Given the description of an element on the screen output the (x, y) to click on. 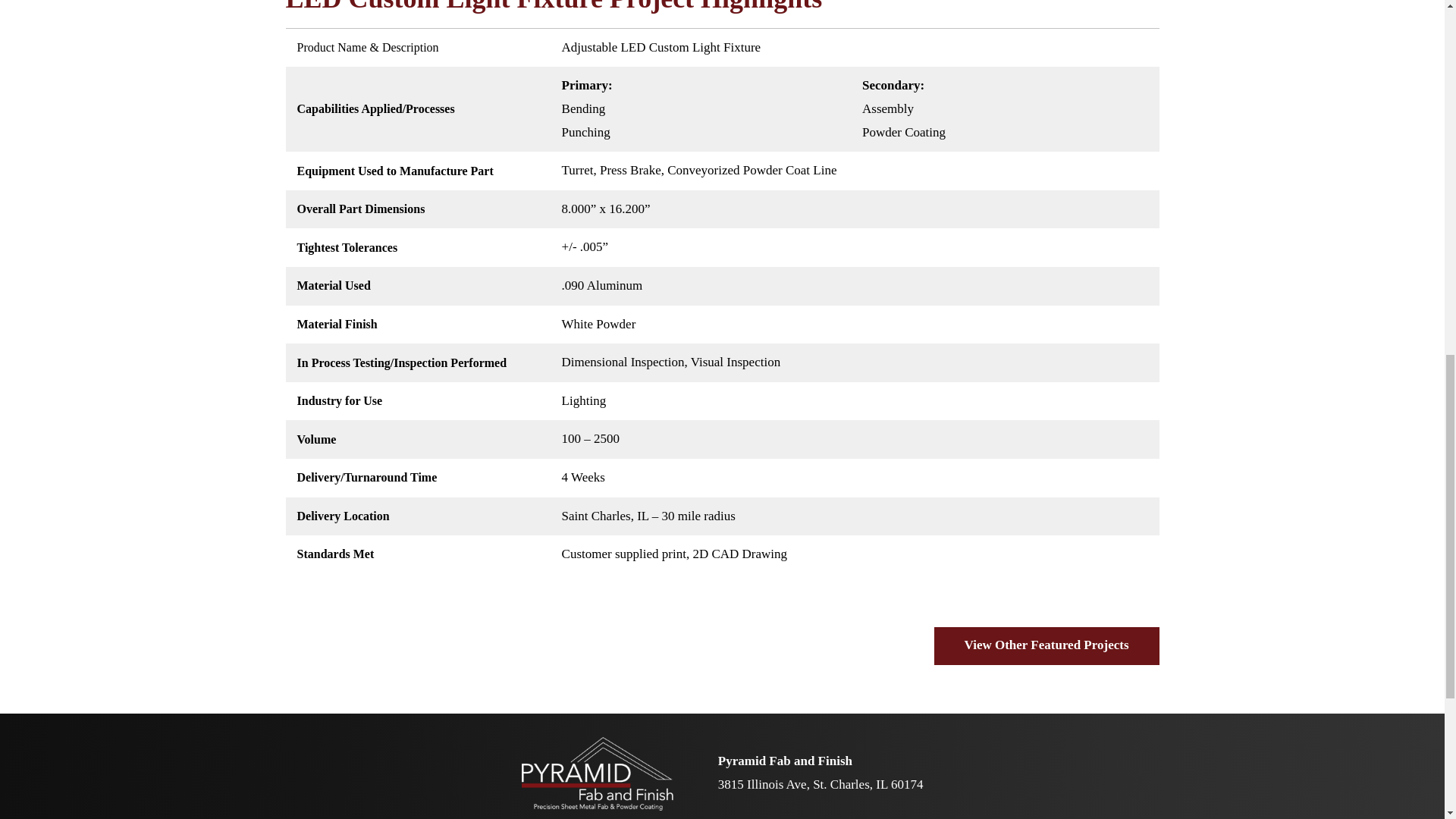
Pyramid Fab and Finish (596, 773)
